Given the description of an element on the screen output the (x, y) to click on. 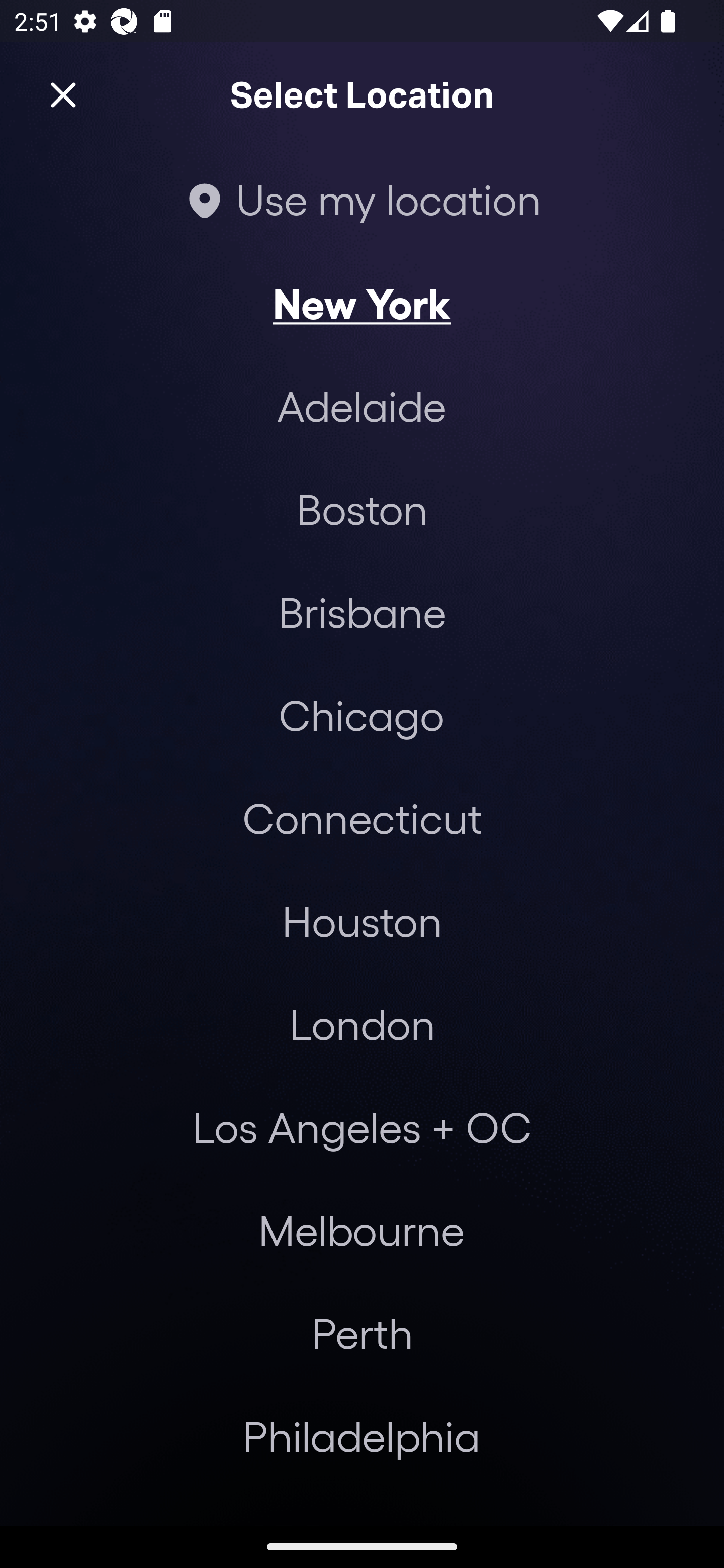
Close (62, 95)
   Use my location (362, 198)
New York (361, 302)
Adelaide (361, 405)
Boston (361, 508)
Brisbane (361, 611)
Chicago (361, 714)
Connecticut (361, 817)
Houston (361, 920)
London (361, 1023)
Los Angeles + OC (361, 1127)
Melbourne (361, 1230)
Perth (361, 1332)
Philadelphia (361, 1436)
